Given the description of an element on the screen output the (x, y) to click on. 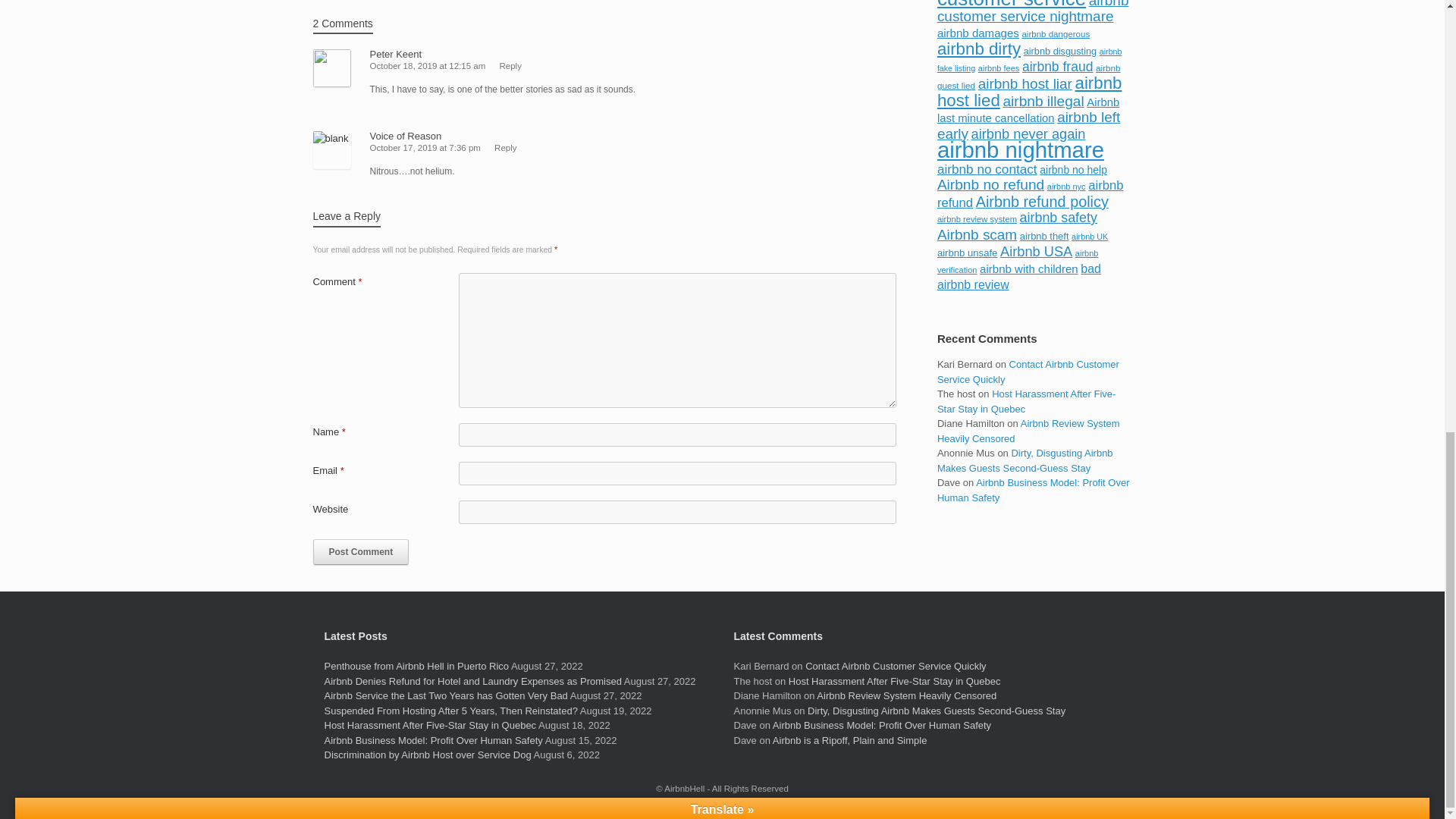
October 18, 2019 at 12:15 am (427, 65)
Post Comment (361, 551)
Reply (510, 65)
